Given the description of an element on the screen output the (x, y) to click on. 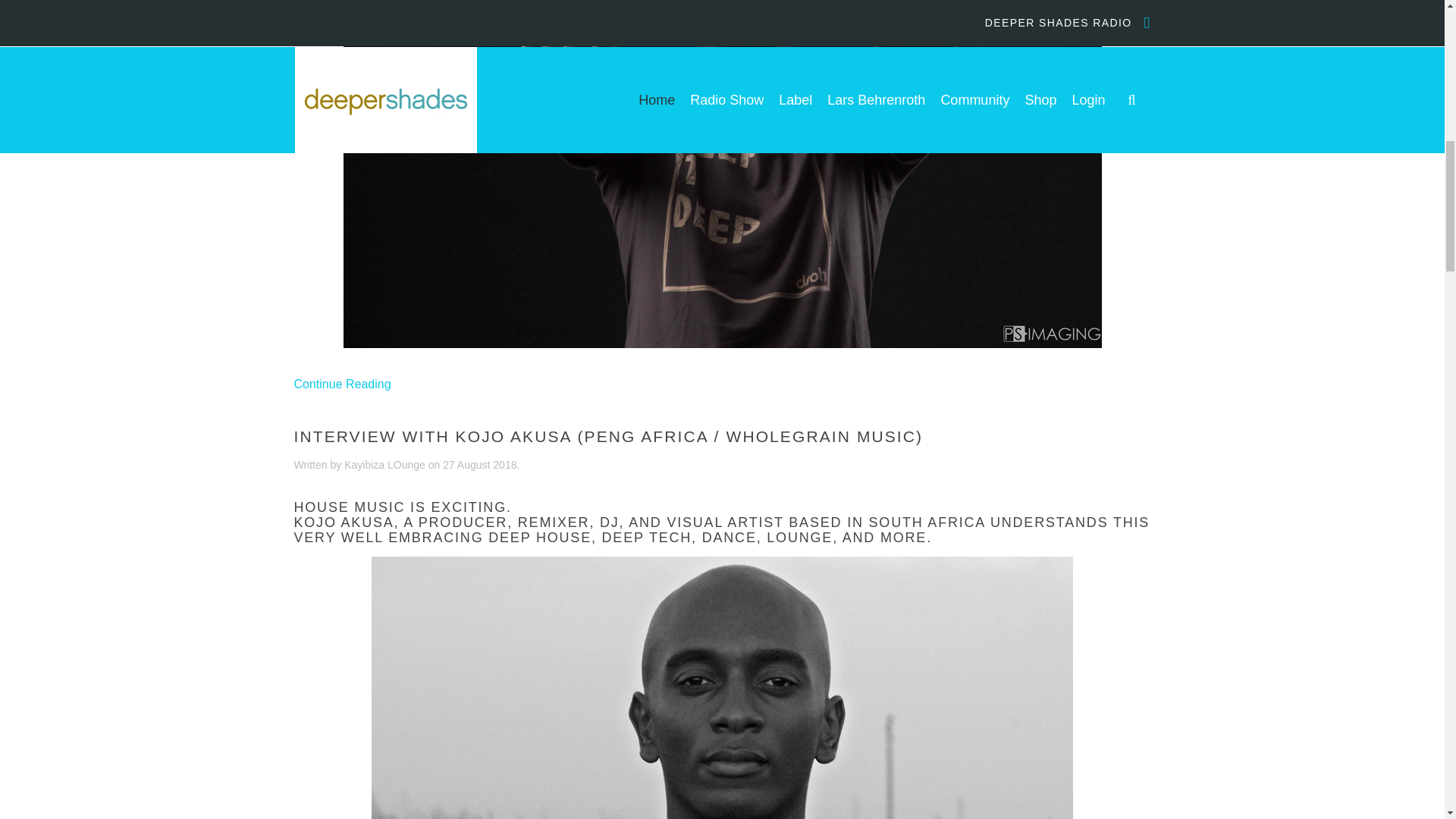
Interview with Slotta - Click to read (721, 93)
Interview with Kojo Akusa - Click to read (722, 784)
